Given the description of an element on the screen output the (x, y) to click on. 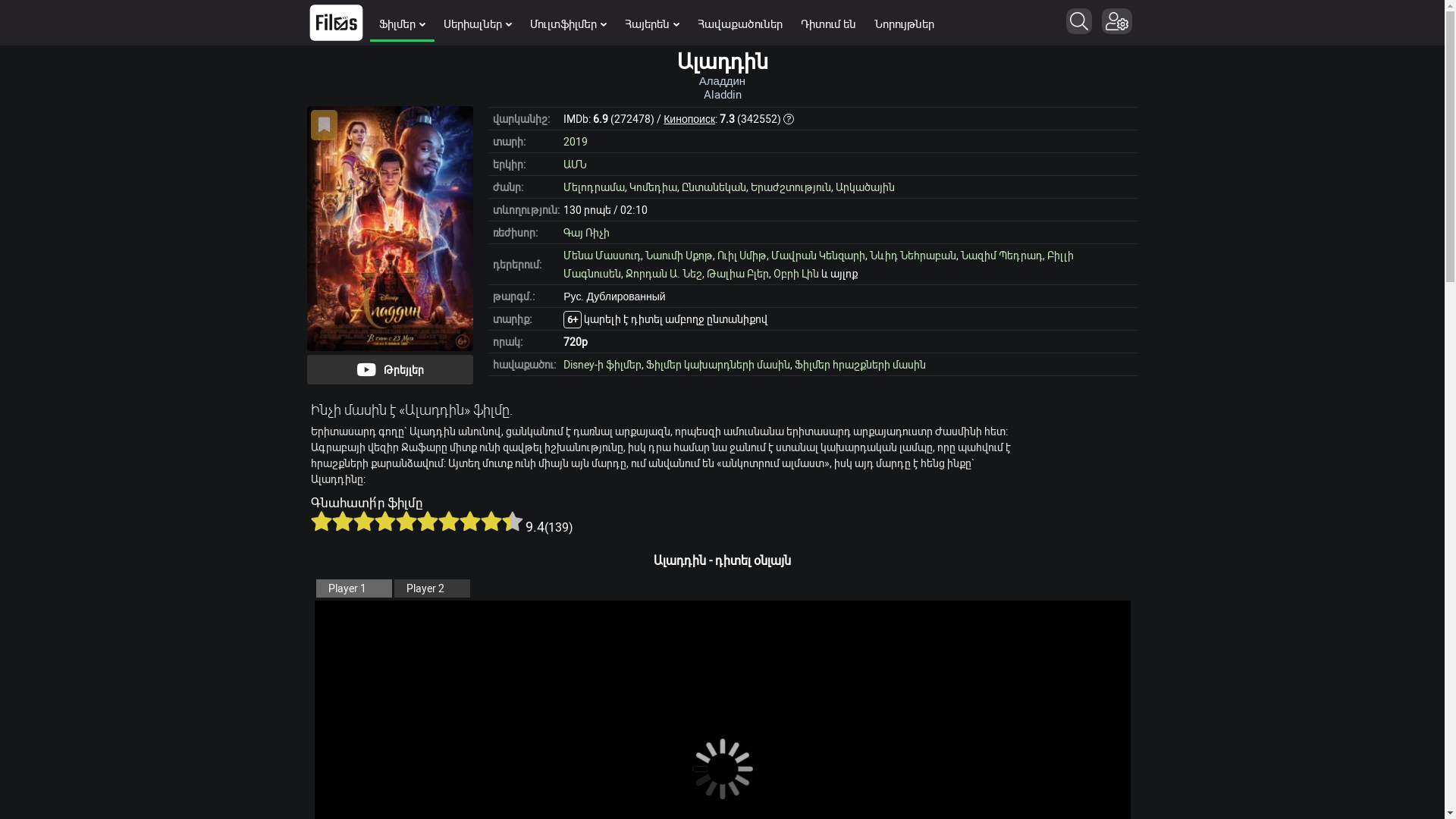
10 Element type: text (512, 520)
Player 1 Element type: text (353, 588)
Player 2 Element type: text (432, 588)
2 Element type: text (342, 520)
9 Element type: text (491, 520)
8 Element type: text (469, 520)
4 Element type: text (384, 520)
6 Element type: text (427, 520)
1 Element type: text (321, 520)
5 Element type: text (406, 520)
2019 Element type: text (575, 140)
3 Element type: text (363, 520)
7 Element type: text (448, 520)
